Given the description of an element on the screen output the (x, y) to click on. 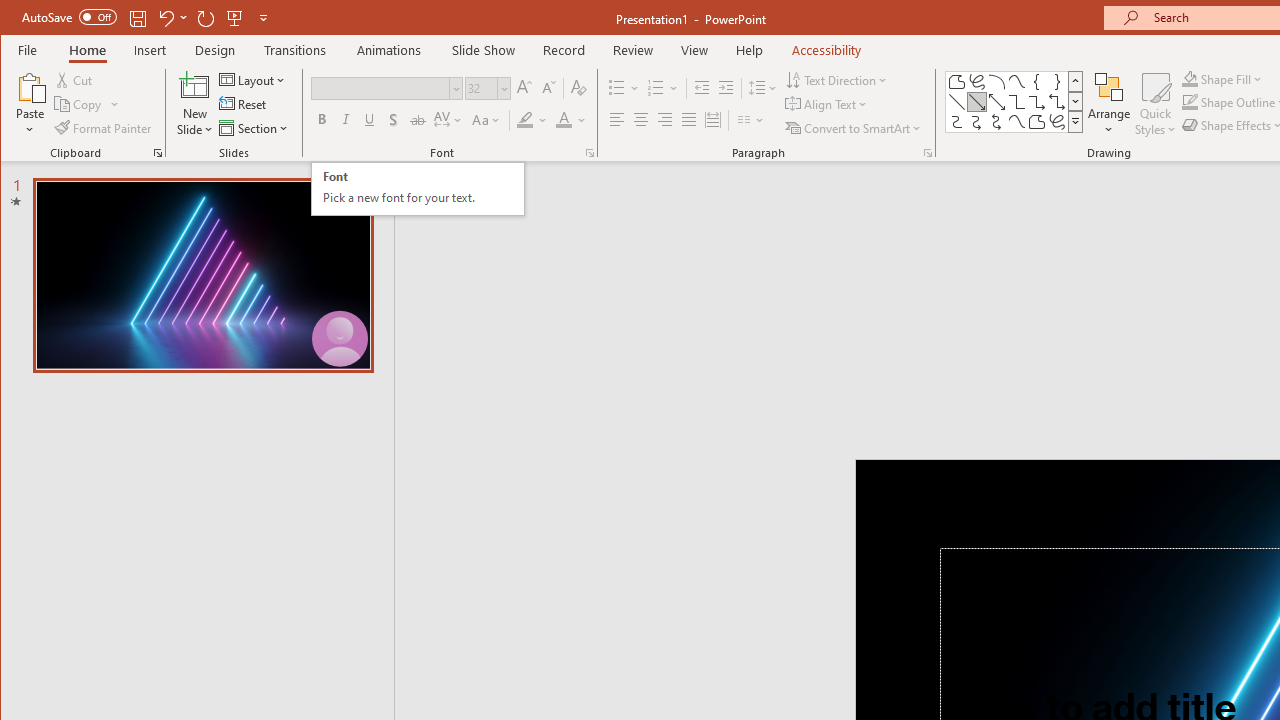
Connector: Elbow Double-Arrow (1057, 102)
